Given the description of an element on the screen output the (x, y) to click on. 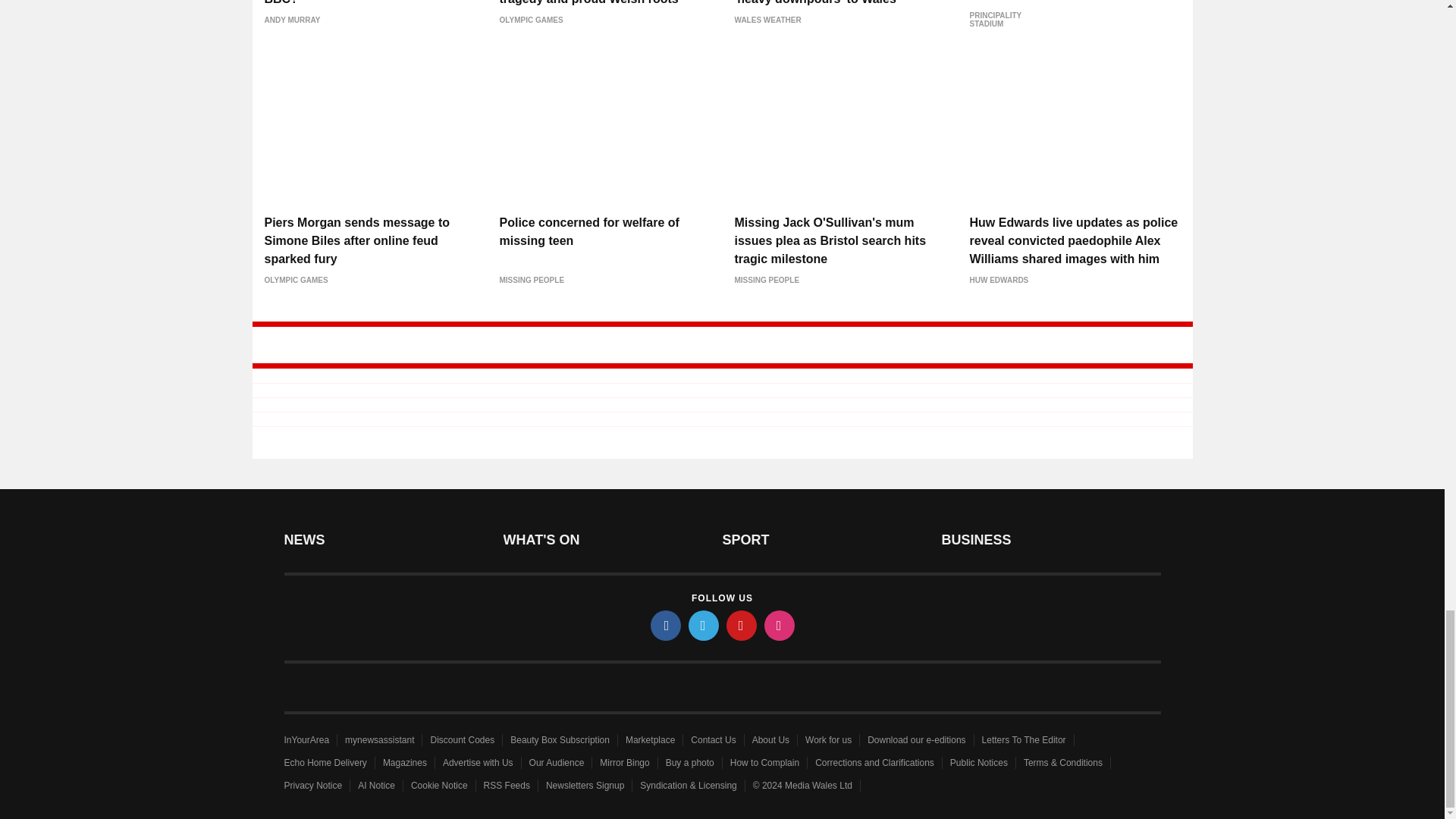
pinterest (741, 625)
instagram (779, 625)
twitter (703, 625)
facebook (665, 625)
